Given the description of an element on the screen output the (x, y) to click on. 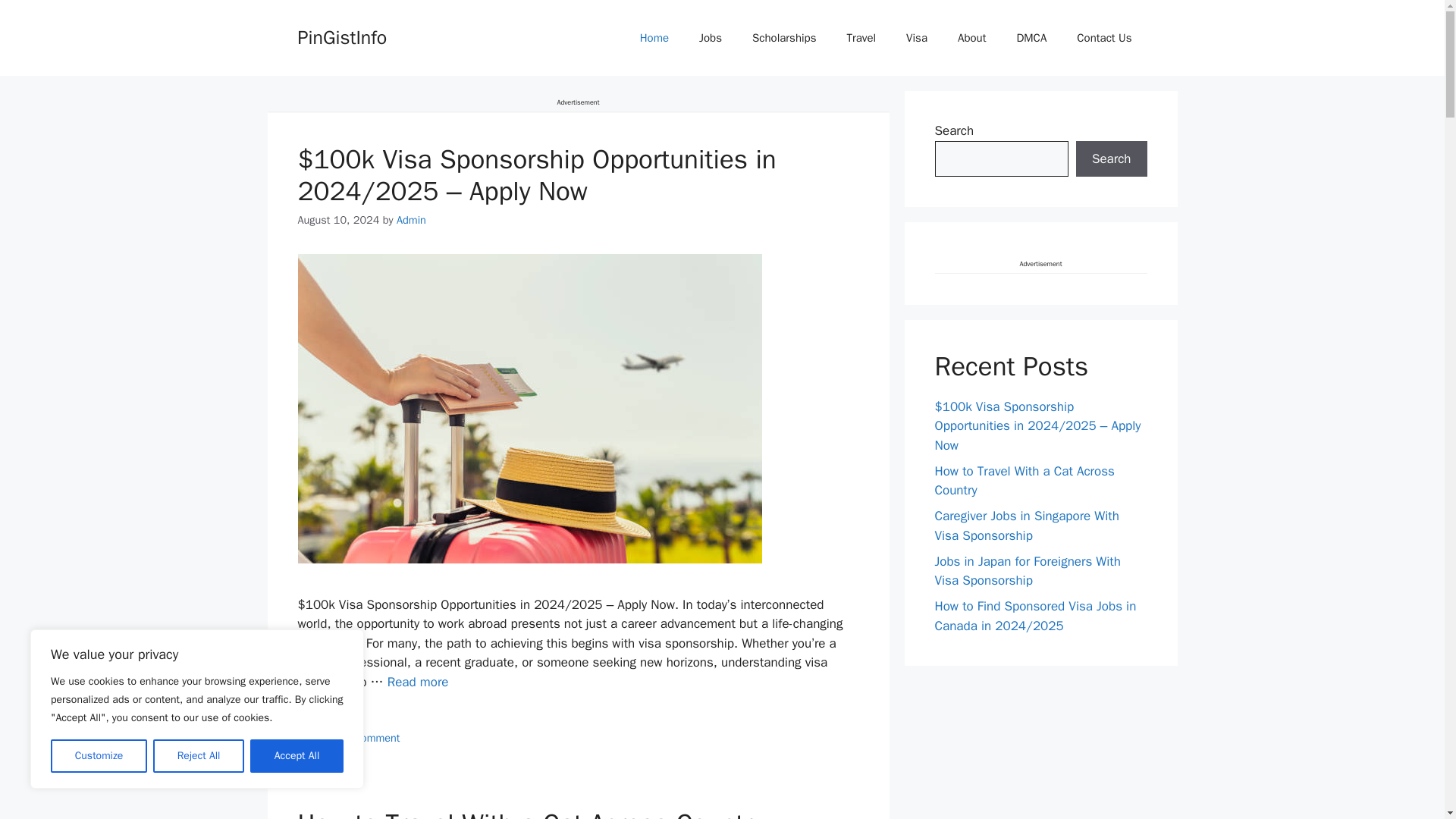
Home (654, 37)
Read more (417, 682)
How to Travel With a Cat Across Country (529, 812)
Accept All (296, 756)
Leave a comment (357, 737)
View all posts by Admin (411, 219)
Customize (98, 756)
Reject All (198, 756)
Admin (411, 219)
DMCA (1031, 37)
